Given the description of an element on the screen output the (x, y) to click on. 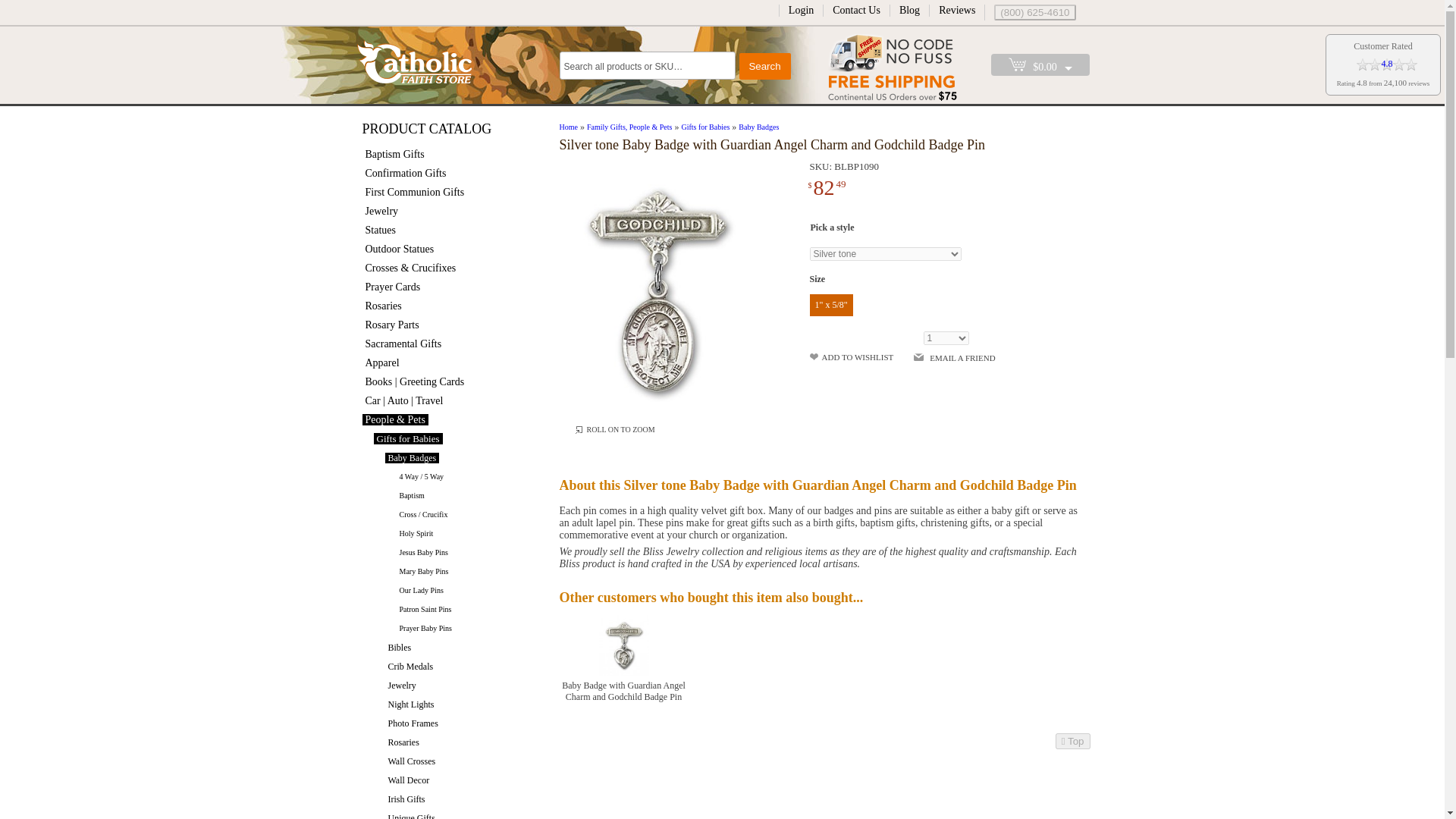
First Communion Gifts (414, 192)
Our Lady Pins (420, 590)
Contact Us (856, 9)
Mary Baby Pins (423, 571)
Confirmation Gifts (405, 173)
Baby Badges (412, 457)
Sacramental Gifts (403, 343)
Rosary Parts (392, 324)
Patron Saint Pins (425, 609)
Customer Rated (1383, 45)
